Given the description of an element on the screen output the (x, y) to click on. 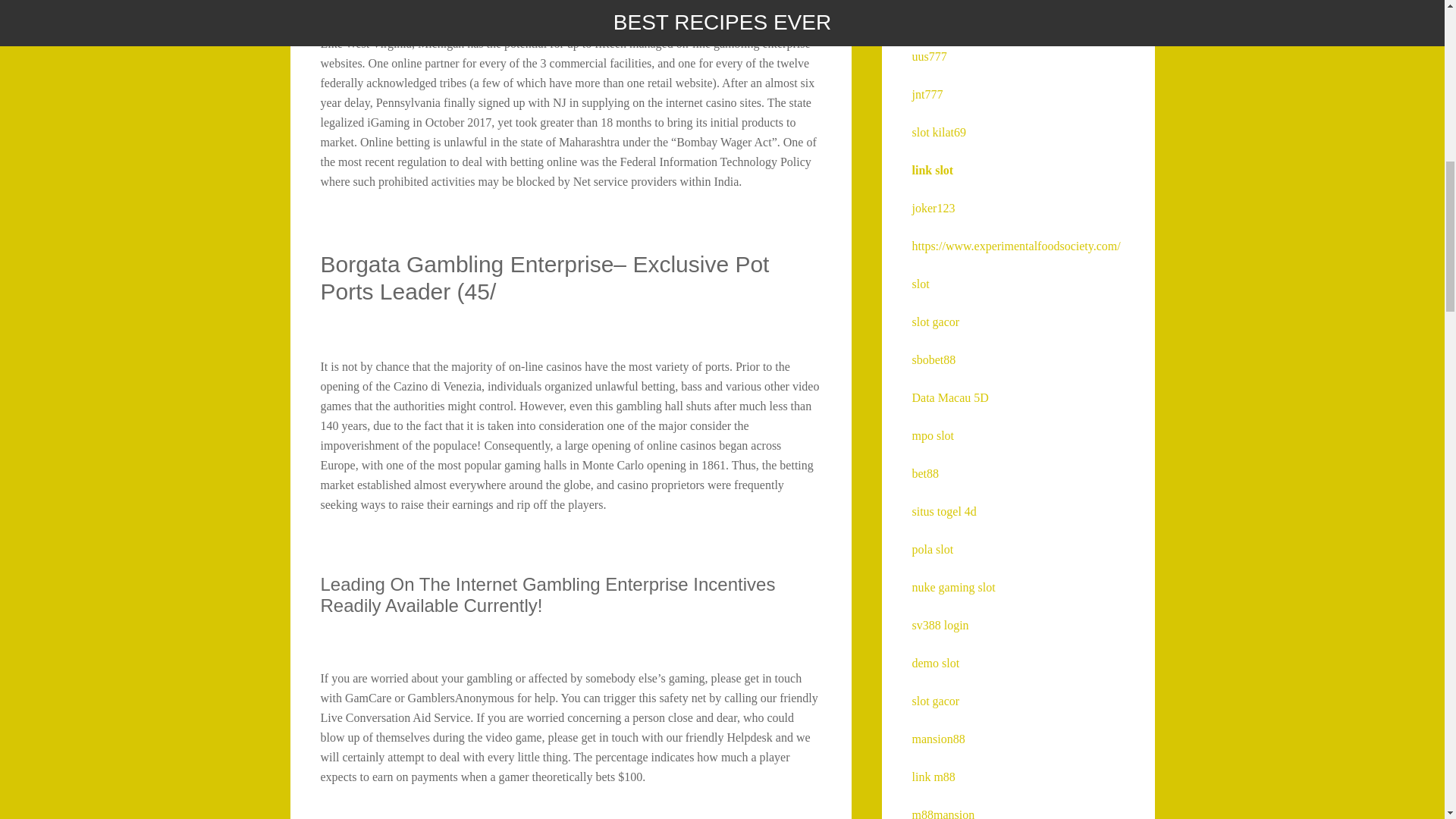
slot kilat69 (938, 132)
uus777 (928, 56)
judi slot online (947, 18)
link slot (932, 169)
joker123 (933, 207)
jnt777 (926, 93)
slot (919, 283)
